Given the description of an element on the screen output the (x, y) to click on. 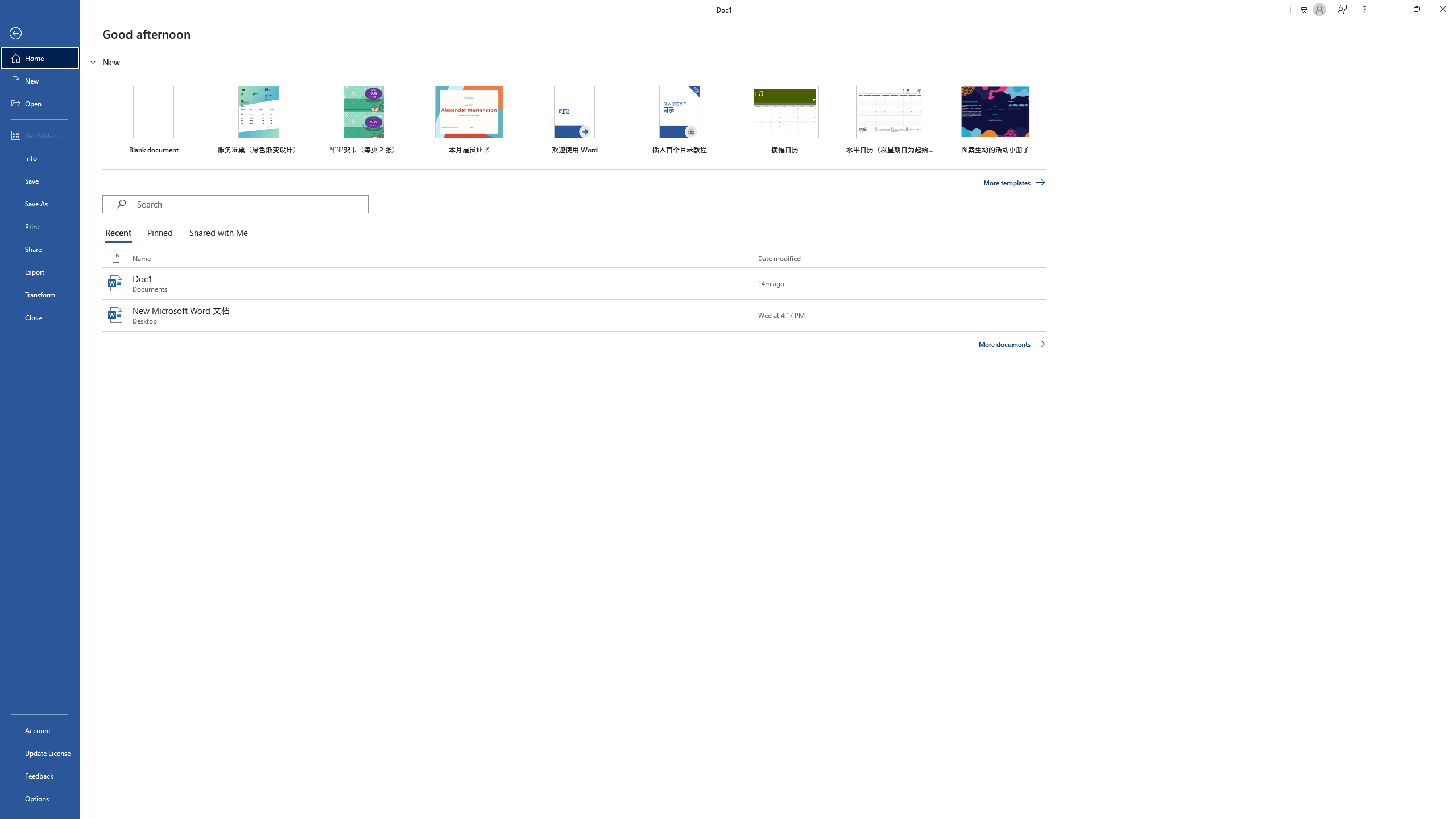
New (40, 80)
Export (40, 271)
Info (40, 157)
Save As (40, 203)
Account (40, 730)
Get Add-ins (40, 134)
